Given the description of an element on the screen output the (x, y) to click on. 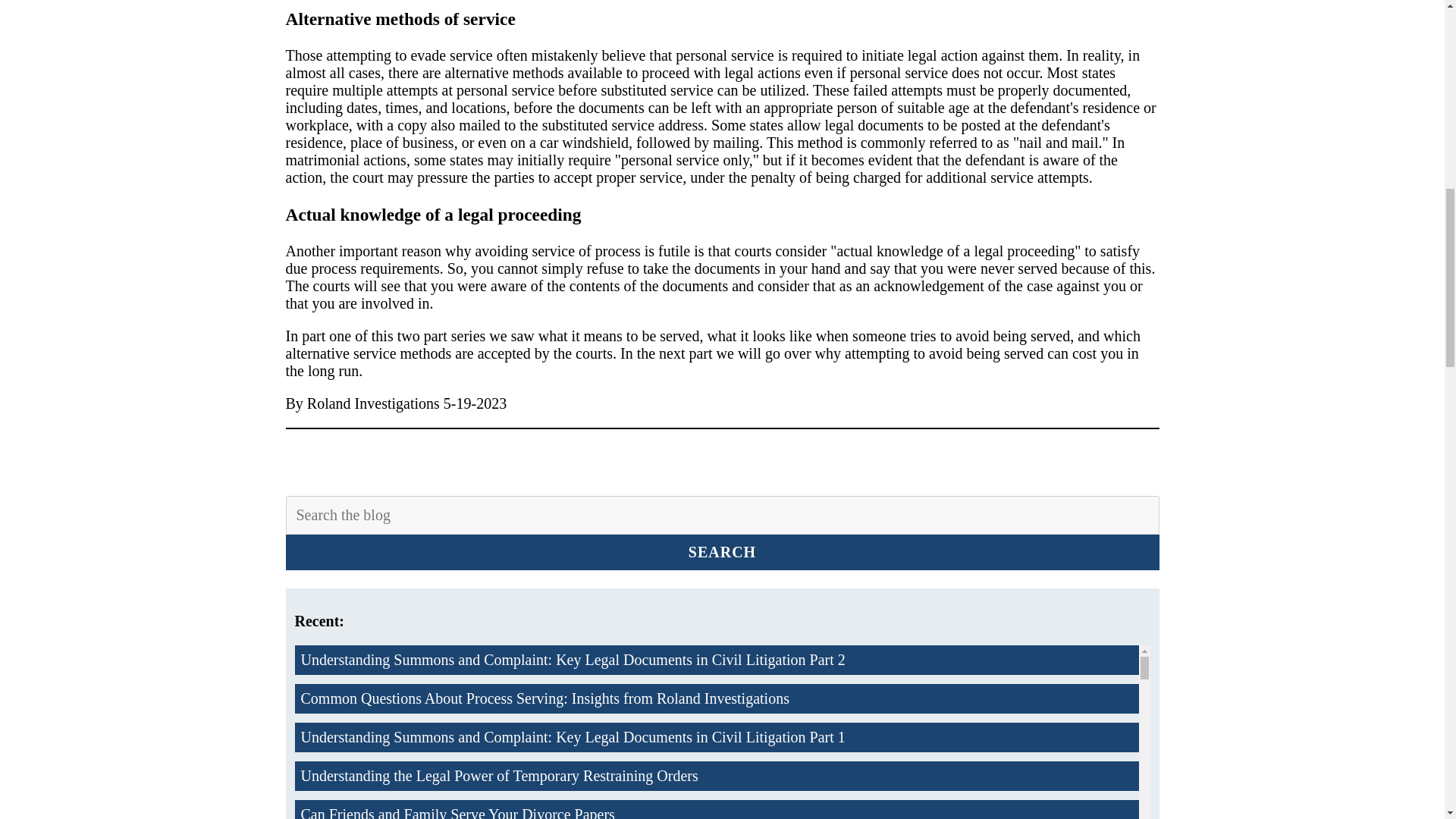
Can Friends and Family Serve Your Divorce Papers (716, 809)
search (721, 552)
search (721, 552)
